Given the description of an element on the screen output the (x, y) to click on. 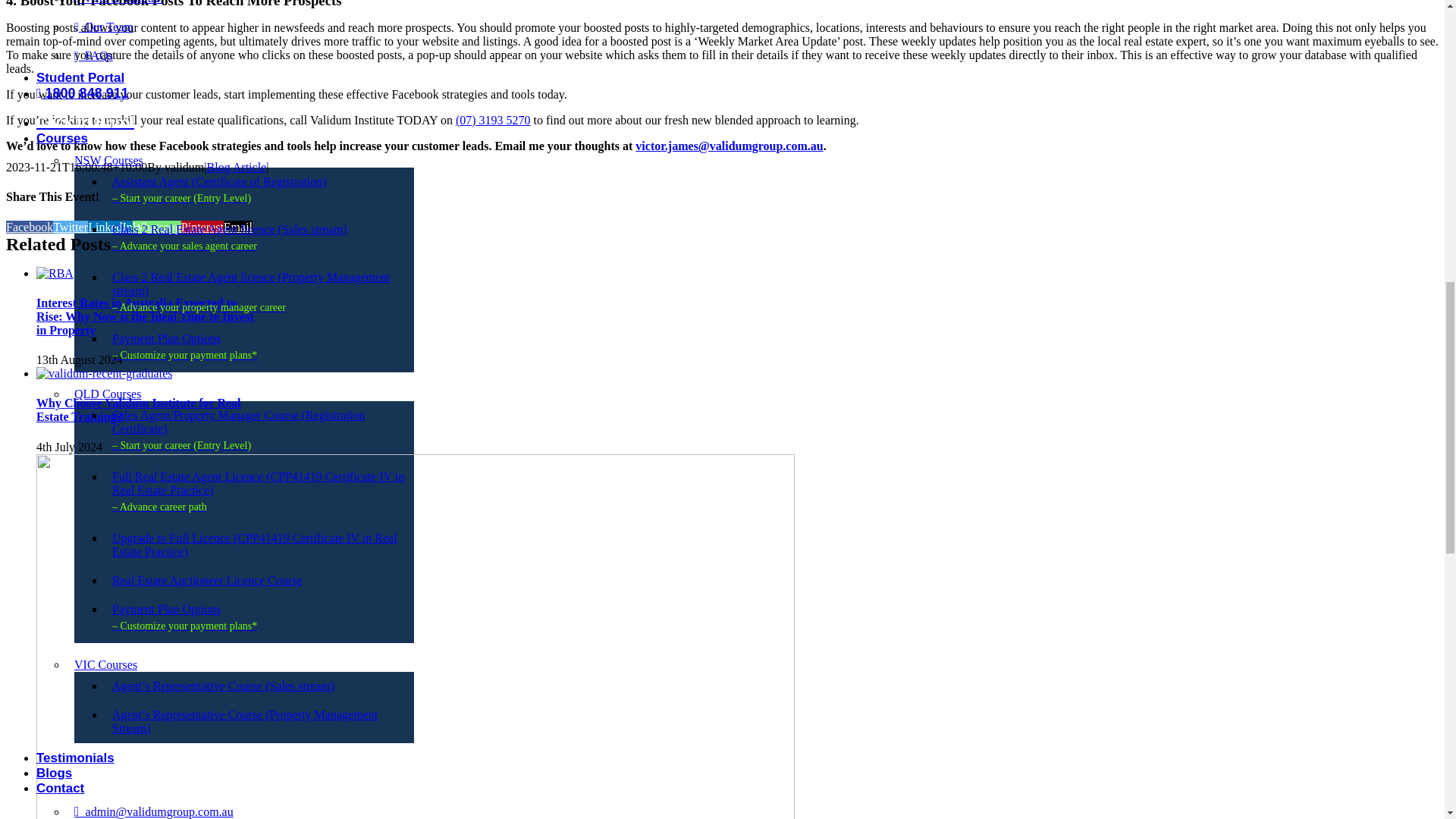
Twitter (69, 226)
LinkedIn (109, 226)
Facebook (28, 226)
